Given the description of an element on the screen output the (x, y) to click on. 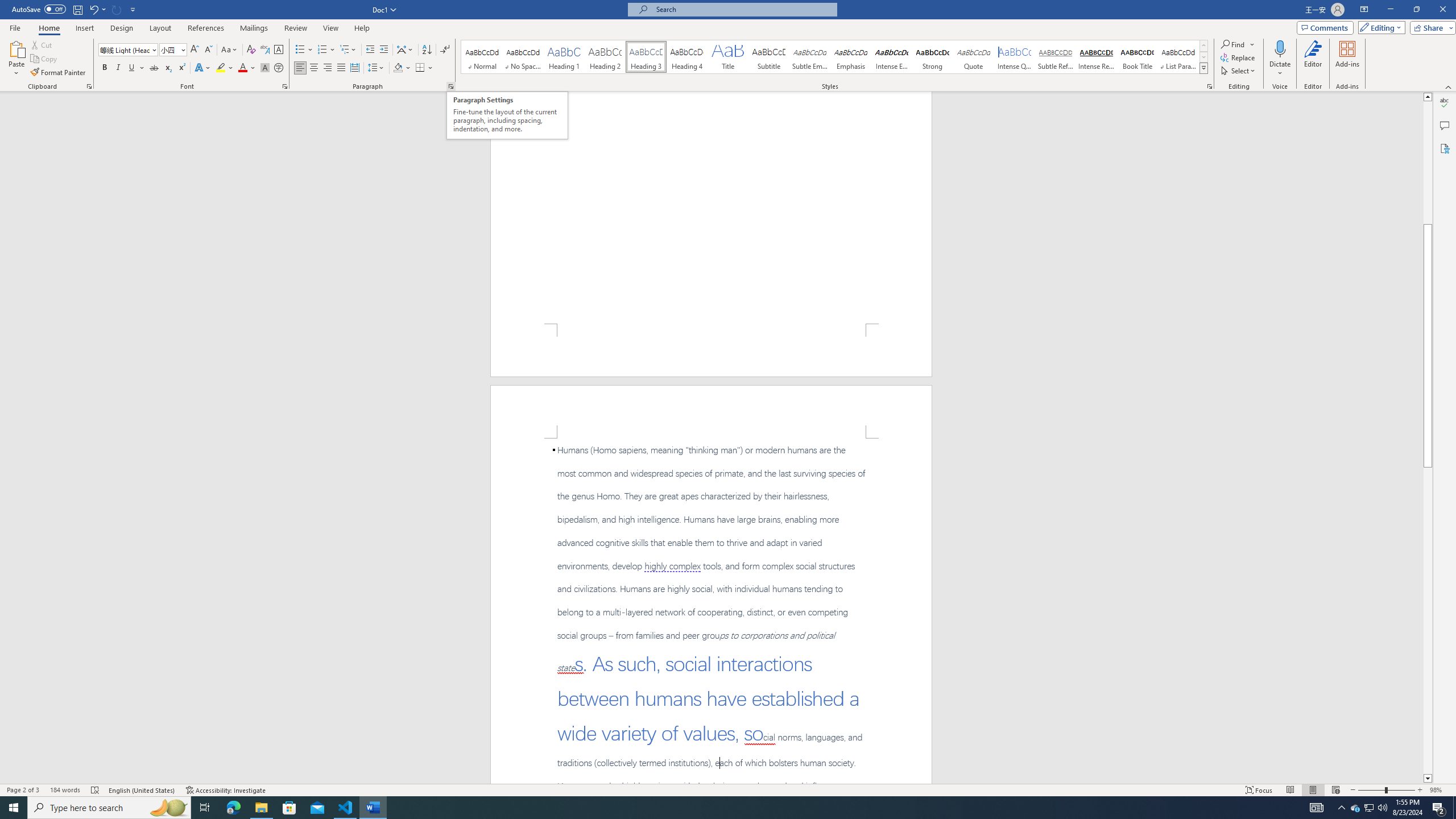
Font... (285, 85)
Shrink Font (208, 49)
Heading 1 (564, 56)
Line down (1427, 778)
Clear Formatting (250, 49)
Editing (1379, 27)
Copy (45, 58)
Replace... (1237, 56)
